Given the description of an element on the screen output the (x, y) to click on. 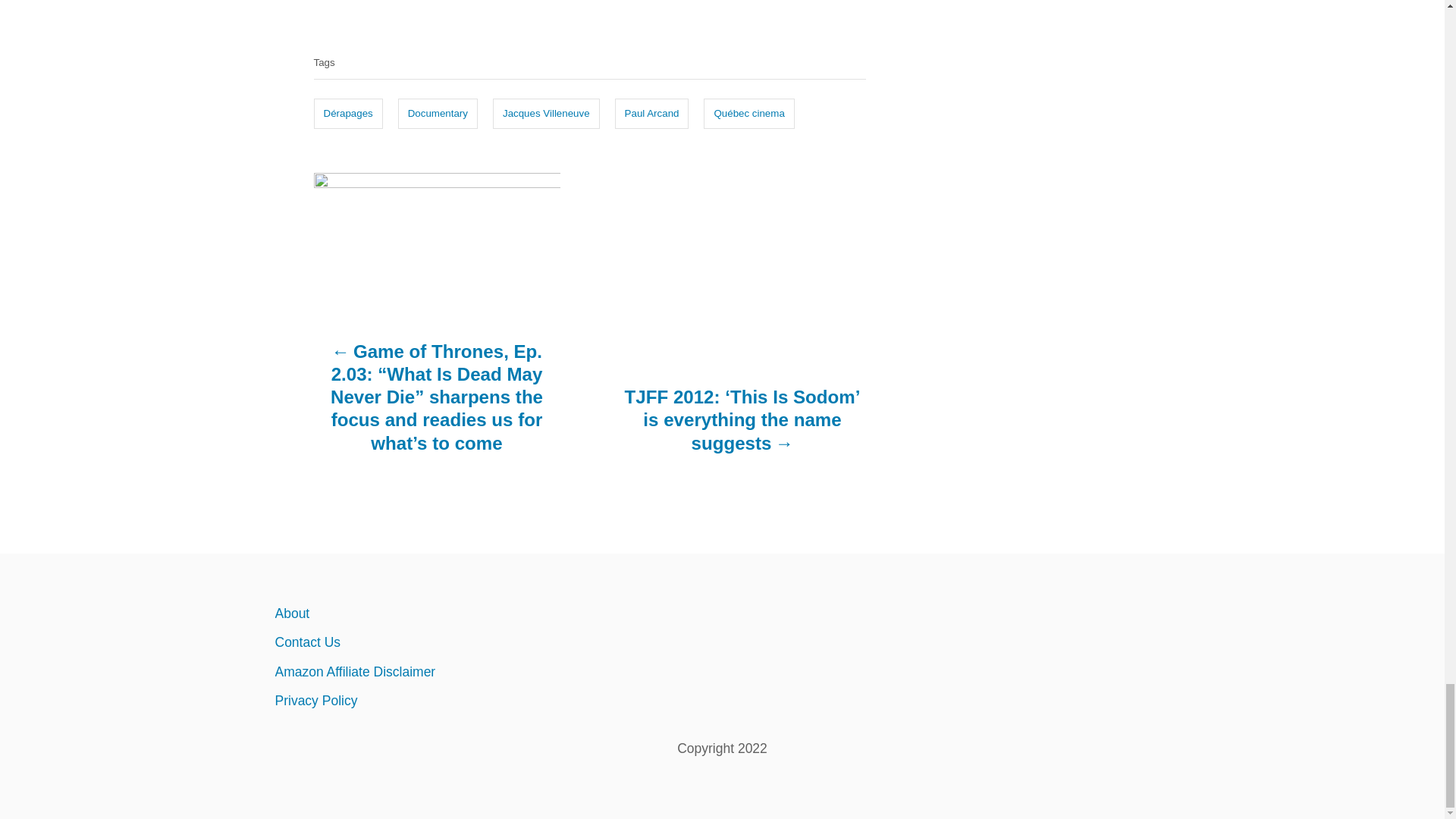
Paul Arcand (651, 113)
Privacy Policy (406, 700)
Amazon Affiliate Disclaimer (406, 671)
About (406, 613)
Contact Us (406, 642)
Jacques Villeneuve (546, 113)
Documentary (437, 113)
